Given the description of an element on the screen output the (x, y) to click on. 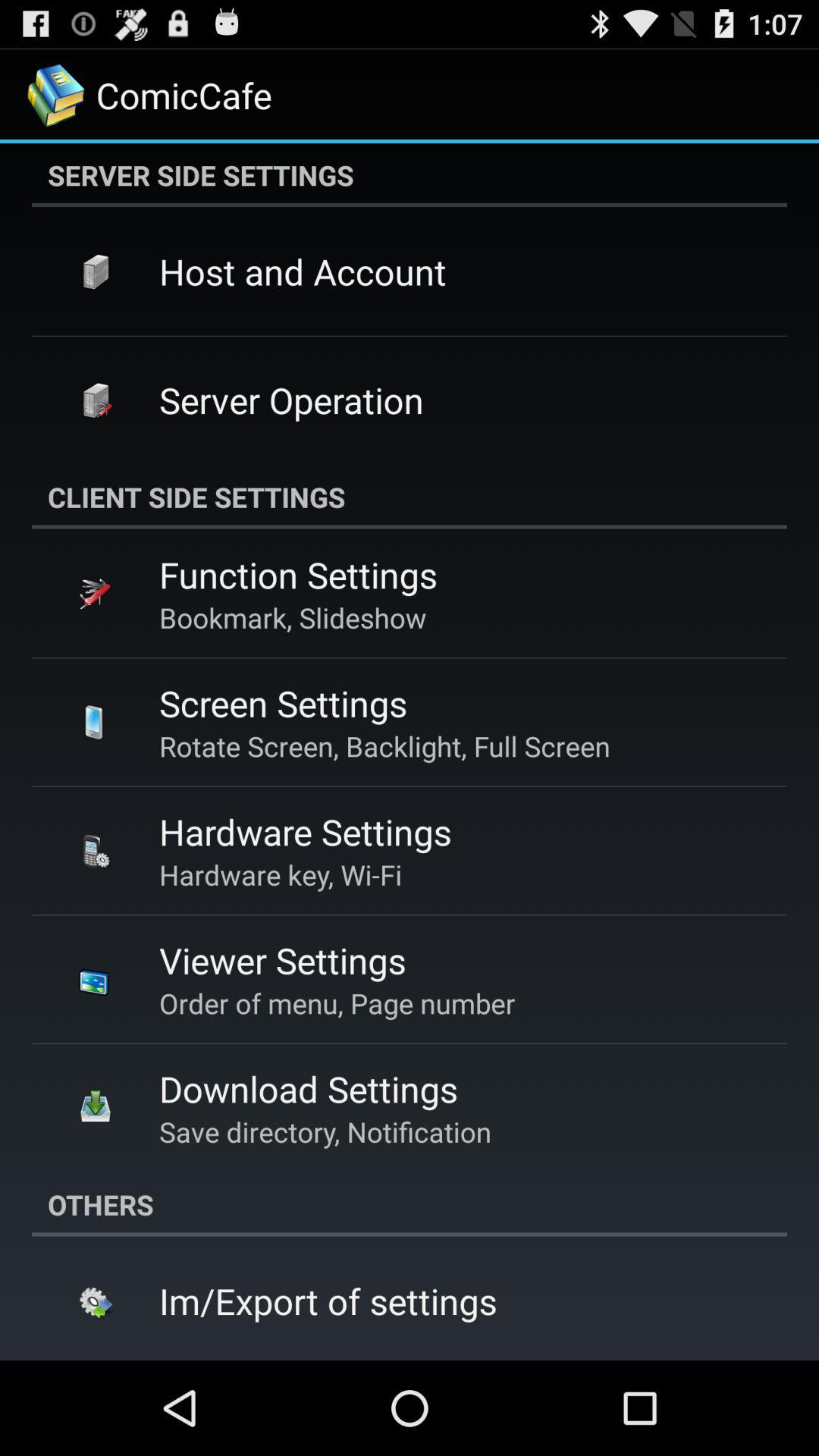
swipe to server operation icon (291, 399)
